Given the description of an element on the screen output the (x, y) to click on. 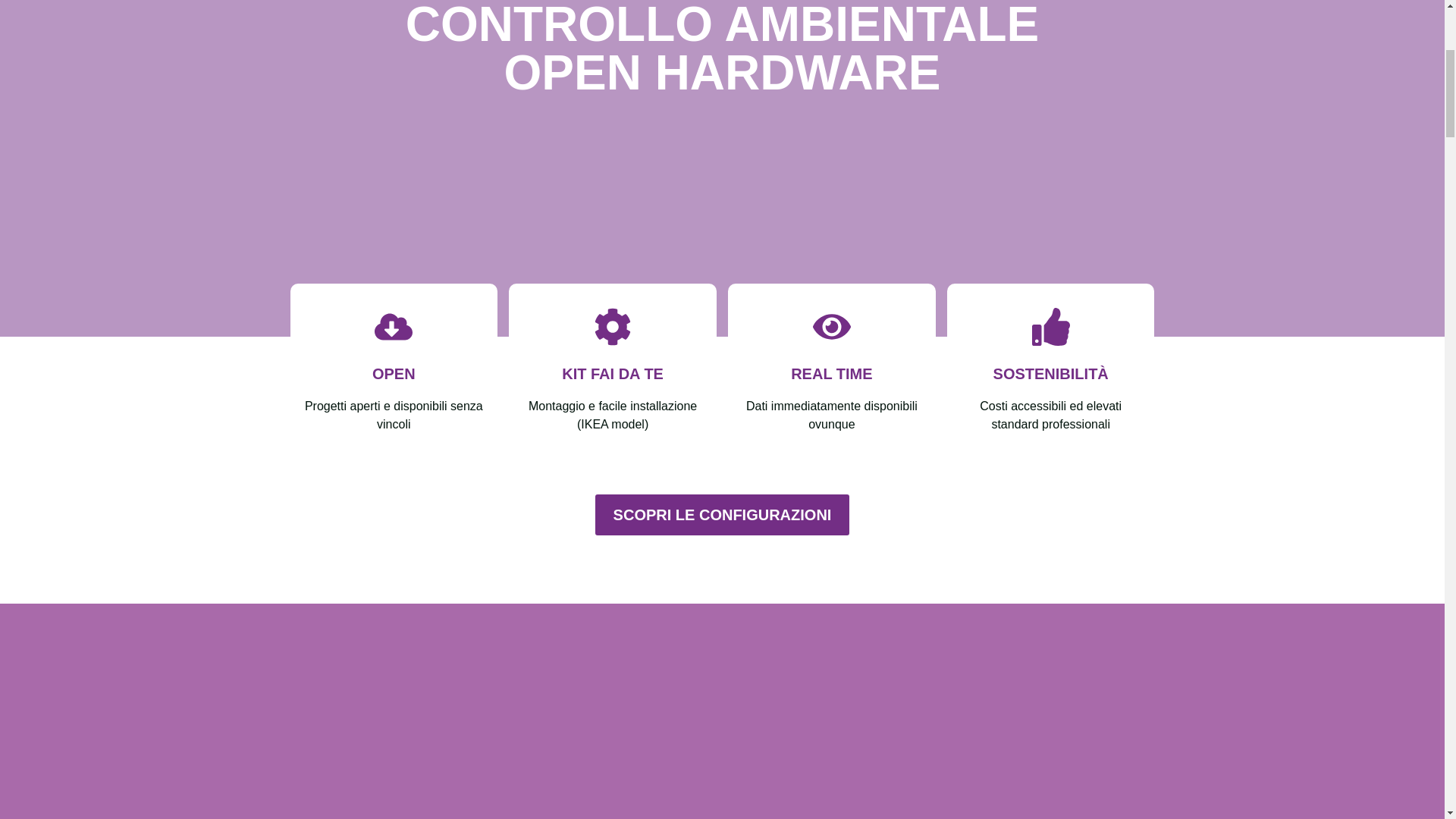
SCOPRI LE CONFIGURAZIONI Element type: text (722, 514)
